Given the description of an element on the screen output the (x, y) to click on. 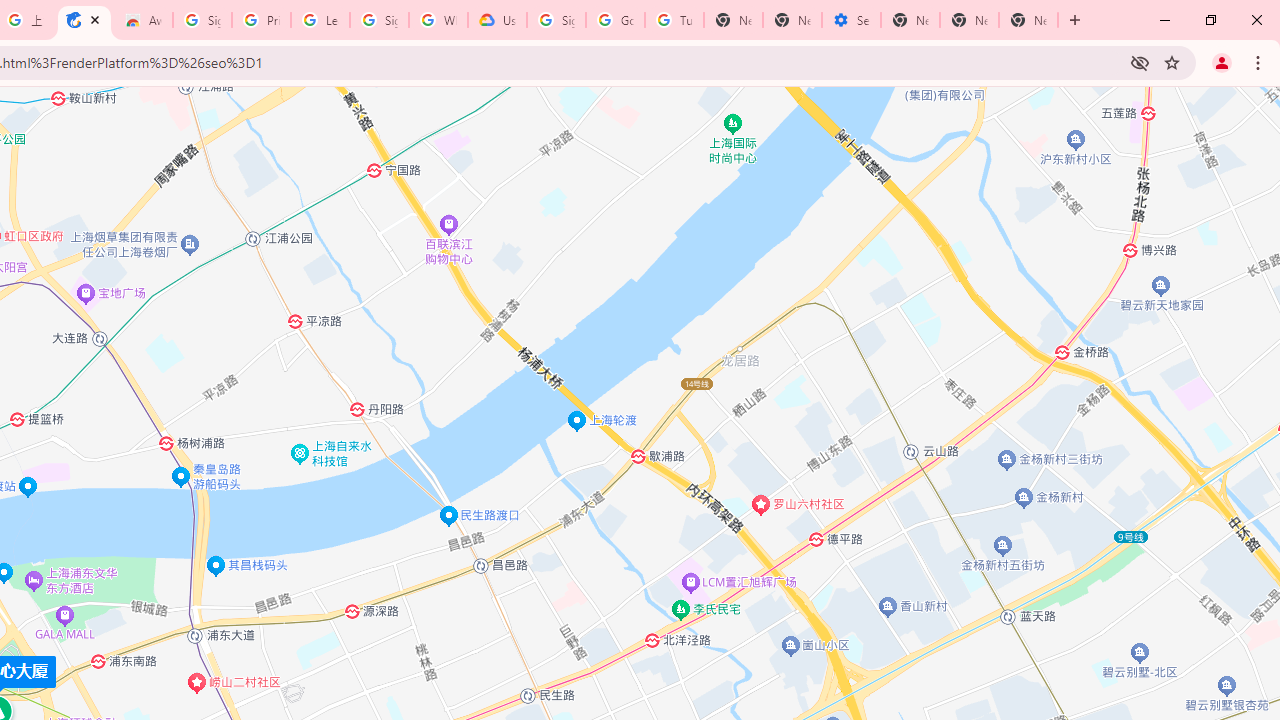
Settings - Addresses and more (850, 20)
Who are Google's partners? - Privacy and conditions - Google (438, 20)
Turn cookies on or off - Computer - Google Account Help (674, 20)
New Tab (909, 20)
